Given the description of an element on the screen output the (x, y) to click on. 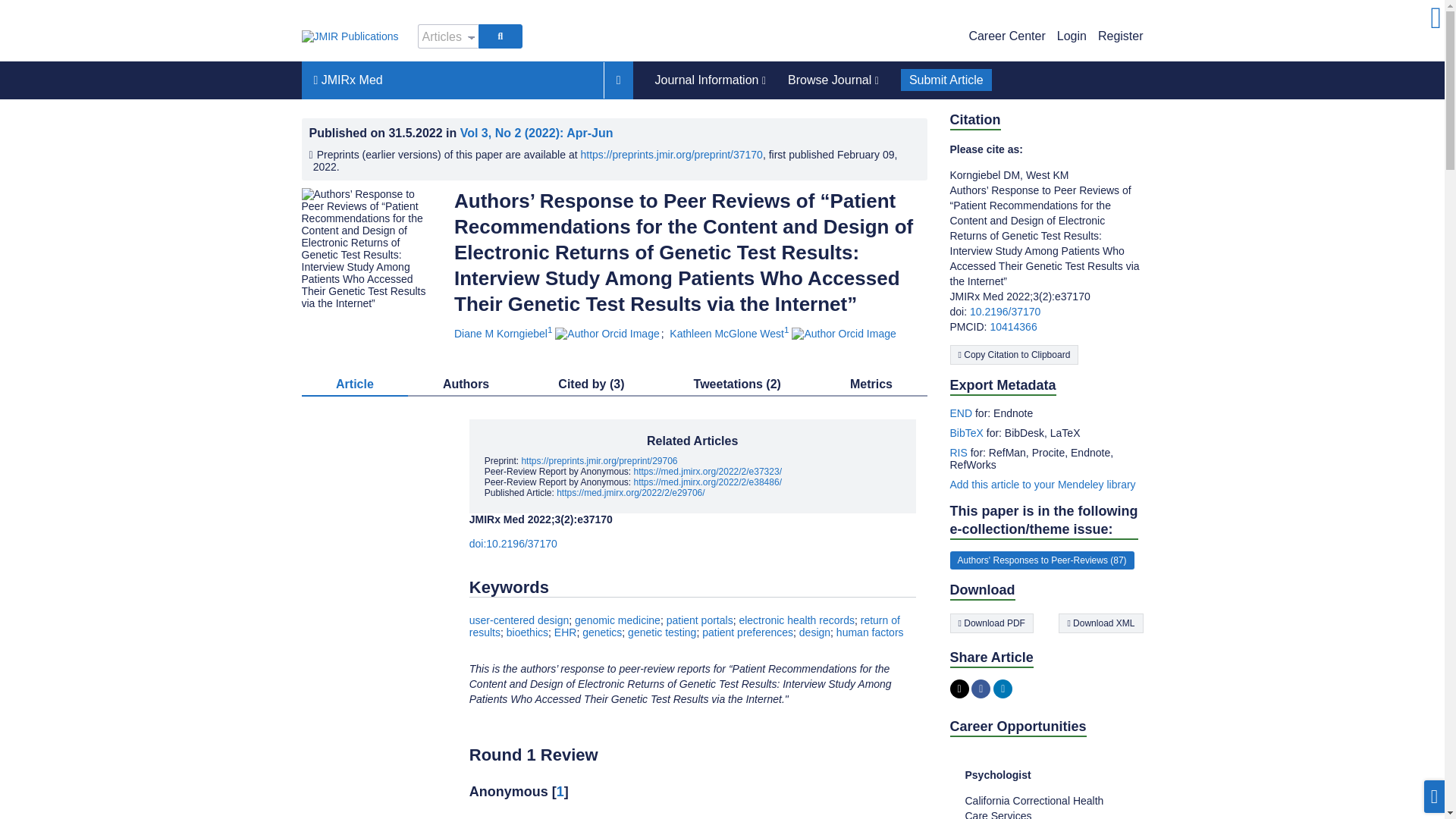
Copy Citation (1013, 354)
Linkedin (1001, 688)
share-on-Twitter (958, 688)
Register (1119, 35)
Career Center (1006, 35)
JMIRx Med (452, 80)
share-on-Facebook (980, 688)
Login (1071, 35)
